Given the description of an element on the screen output the (x, y) to click on. 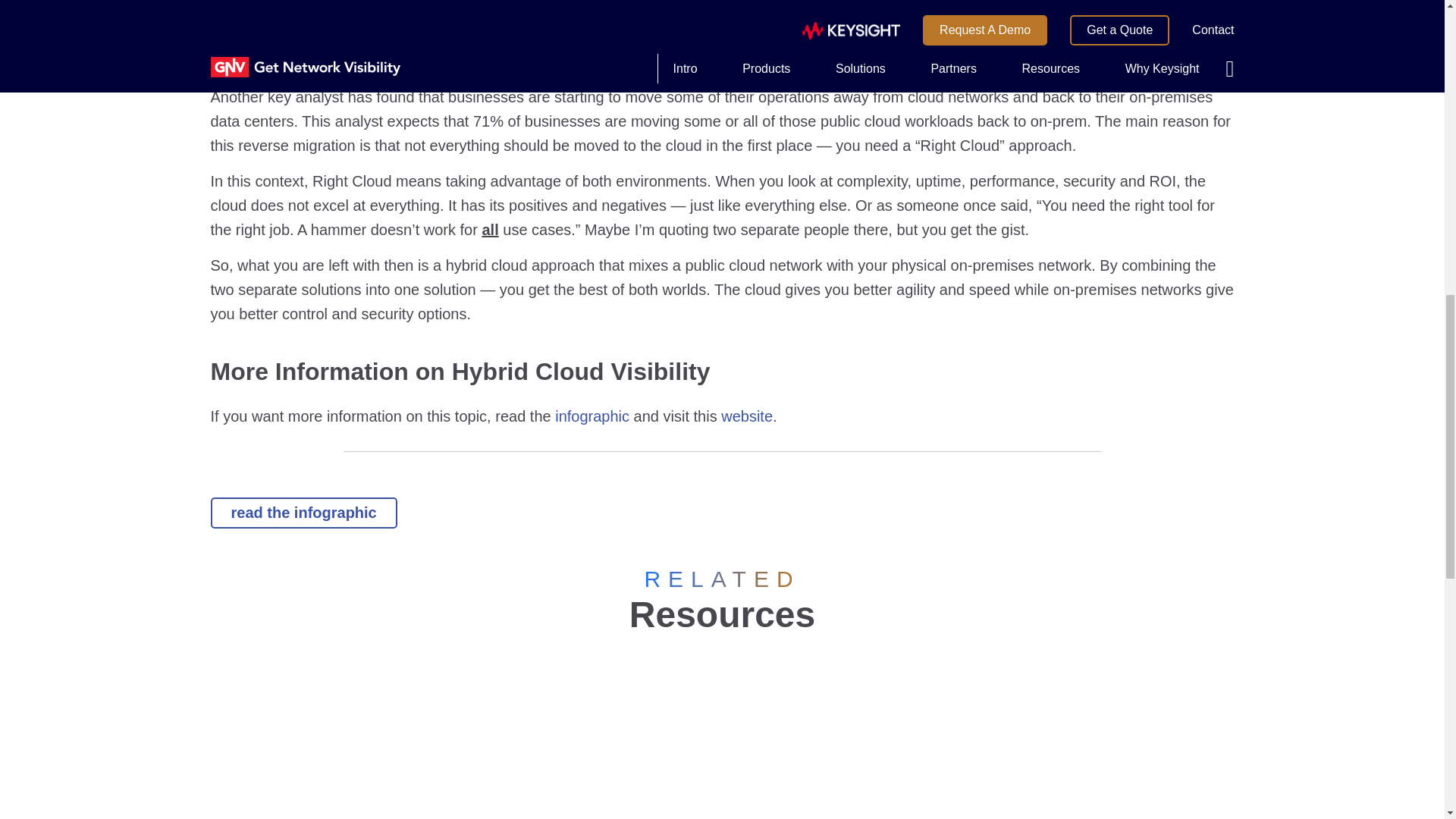
Best Practices for Visibility Architecture Tap Planning (589, 736)
website (746, 416)
infographic (591, 416)
read the infographic (304, 512)
